Given the description of an element on the screen output the (x, y) to click on. 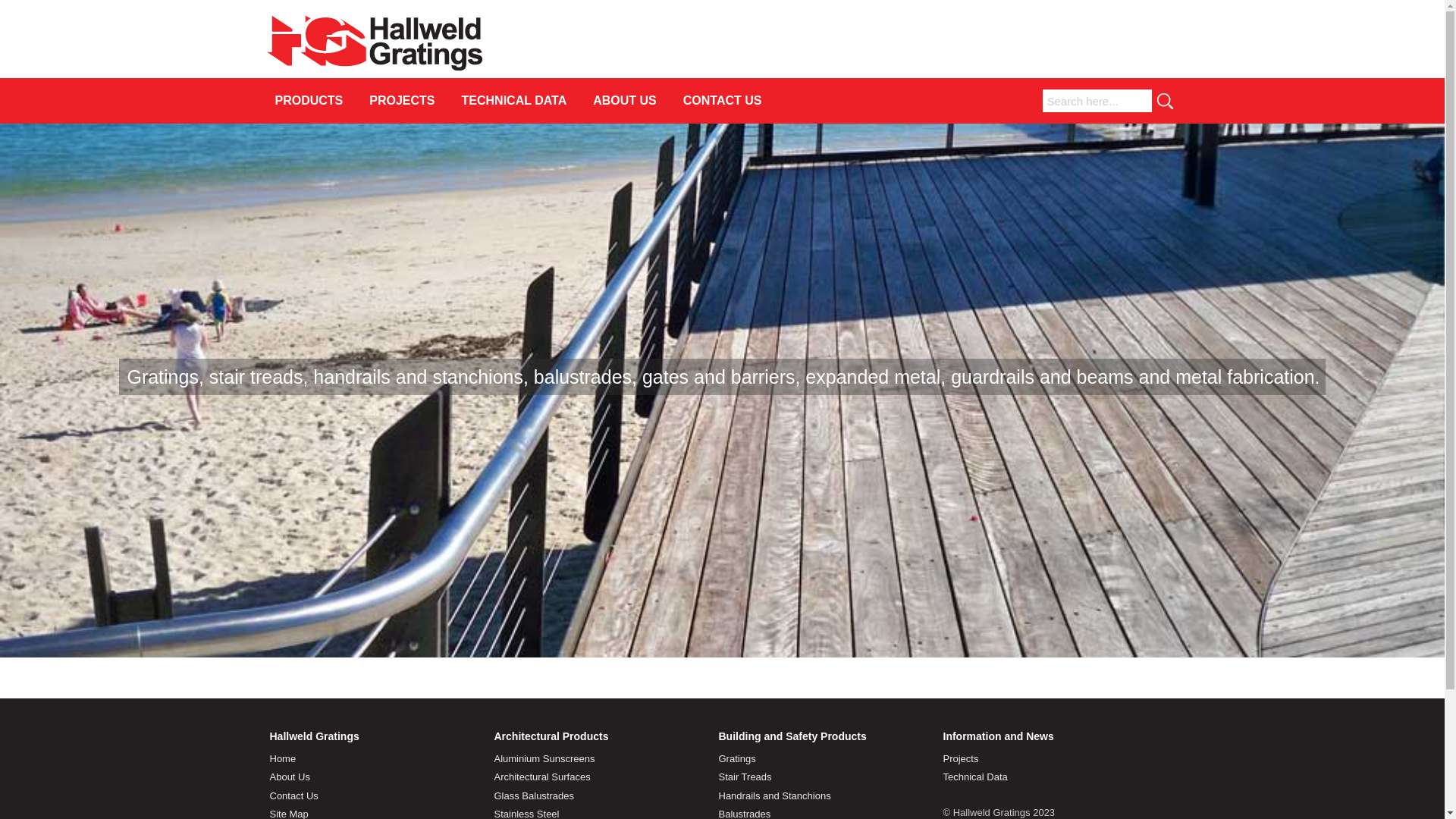
Technical Data Element type: text (975, 776)
Architectural Products Element type: text (551, 736)
gratings Element type: text (372, 265)
Stainless Steel Element type: text (426, 357)
Home Element type: text (282, 758)
... Element type: text (380, 379)
Architectural Surfaces Element type: text (542, 776)
Metal Fabrication Element type: text (435, 465)
handrail systems Element type: text (595, 265)
Stainless Steel Element type: hover (313, 437)
Rail Balustrades Element type: text (432, 572)
PROJECTS Element type: text (401, 100)
About Us Element type: text (289, 776)
architectural products Element type: text (669, 222)
PRODUCTS Element type: text (308, 100)
Hallweld Gratings Element type: hover (373, 67)
Glass Balustrades Element type: text (534, 795)
Contact Us Element type: text (293, 795)
Gratings Element type: text (737, 758)
Rail Balustrades Element type: hover (313, 652)
TECHNICAL DATA Element type: text (514, 100)
Enter Search Terms Element type: hover (1093, 100)
ABOUT US Element type: text (624, 100)
Building and Safety Products Element type: text (792, 736)
Metal Fabrication Element type: hover (313, 544)
Projects Element type: text (961, 758)
Handrails and Stanchions Element type: text (774, 795)
CONTACT US Element type: text (722, 100)
Building and Safety Products Element type: hover (722, 390)
Stair Treads Element type: text (744, 776)
building and safety products Element type: text (820, 222)
Aluminium Sunscreens Element type: text (544, 758)
Click to Search Element type: hover (1163, 100)
